Given the description of an element on the screen output the (x, y) to click on. 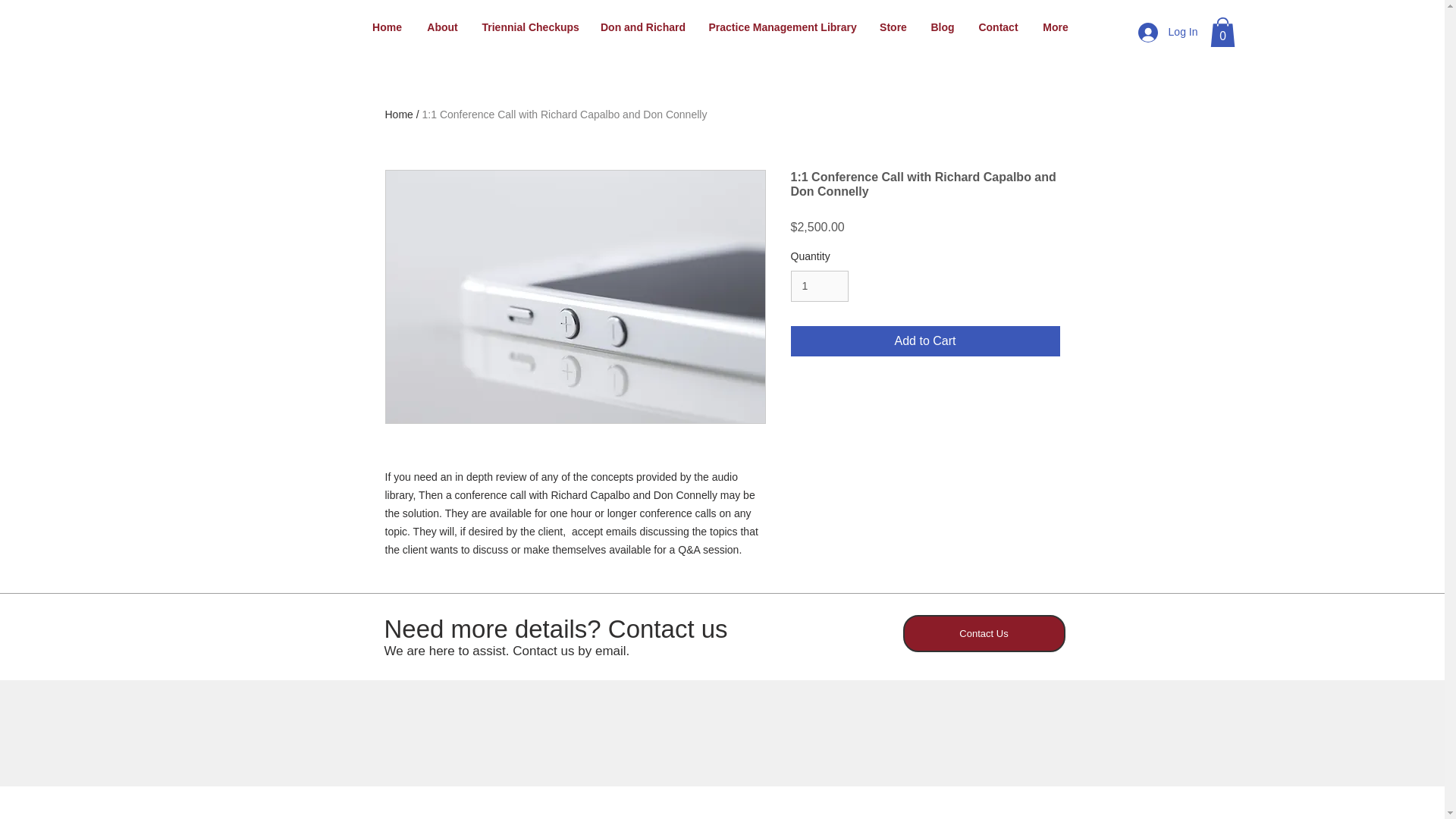
Don and Richard (642, 27)
Store (892, 27)
1:1 Conference Call with Richard Capalbo and Don Connelly (564, 114)
Contact (997, 27)
Blog (942, 27)
About (441, 27)
1 (818, 286)
Contact Us (983, 633)
Home (386, 27)
Practice Management Library (782, 27)
Add to Cart (924, 340)
Log In (1167, 32)
Triennial Checkups (529, 27)
Home (399, 114)
